Given the description of an element on the screen output the (x, y) to click on. 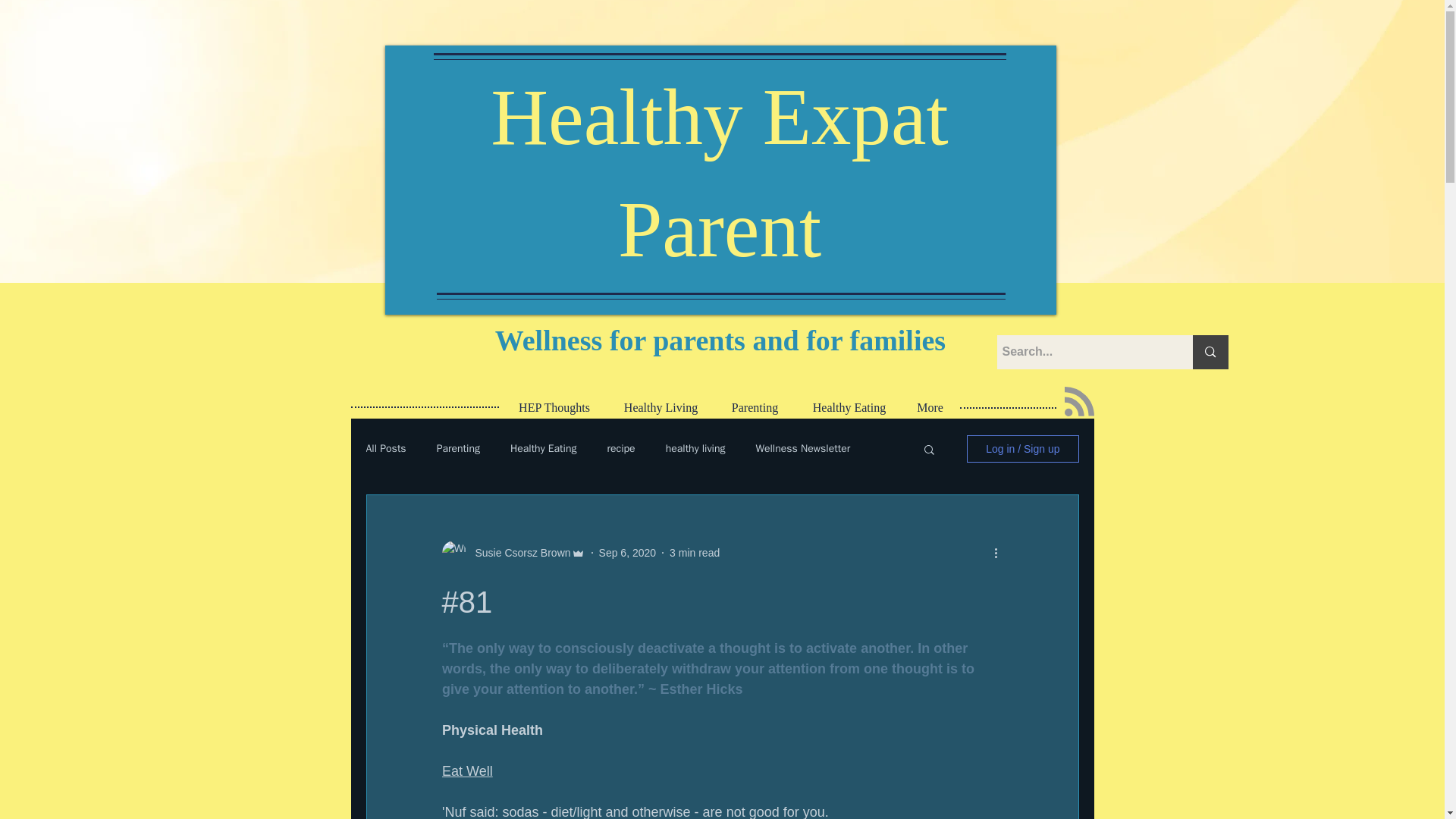
Wellness Newsletter (802, 448)
healthy living (695, 448)
Parenting (458, 448)
Sep 6, 2020 (627, 551)
Healthy Eating (543, 448)
Healthy Eating (848, 407)
Healthy Living (660, 407)
recipe (620, 448)
Susie Csorsz Brown (517, 552)
3 min read (694, 551)
